Given the description of an element on the screen output the (x, y) to click on. 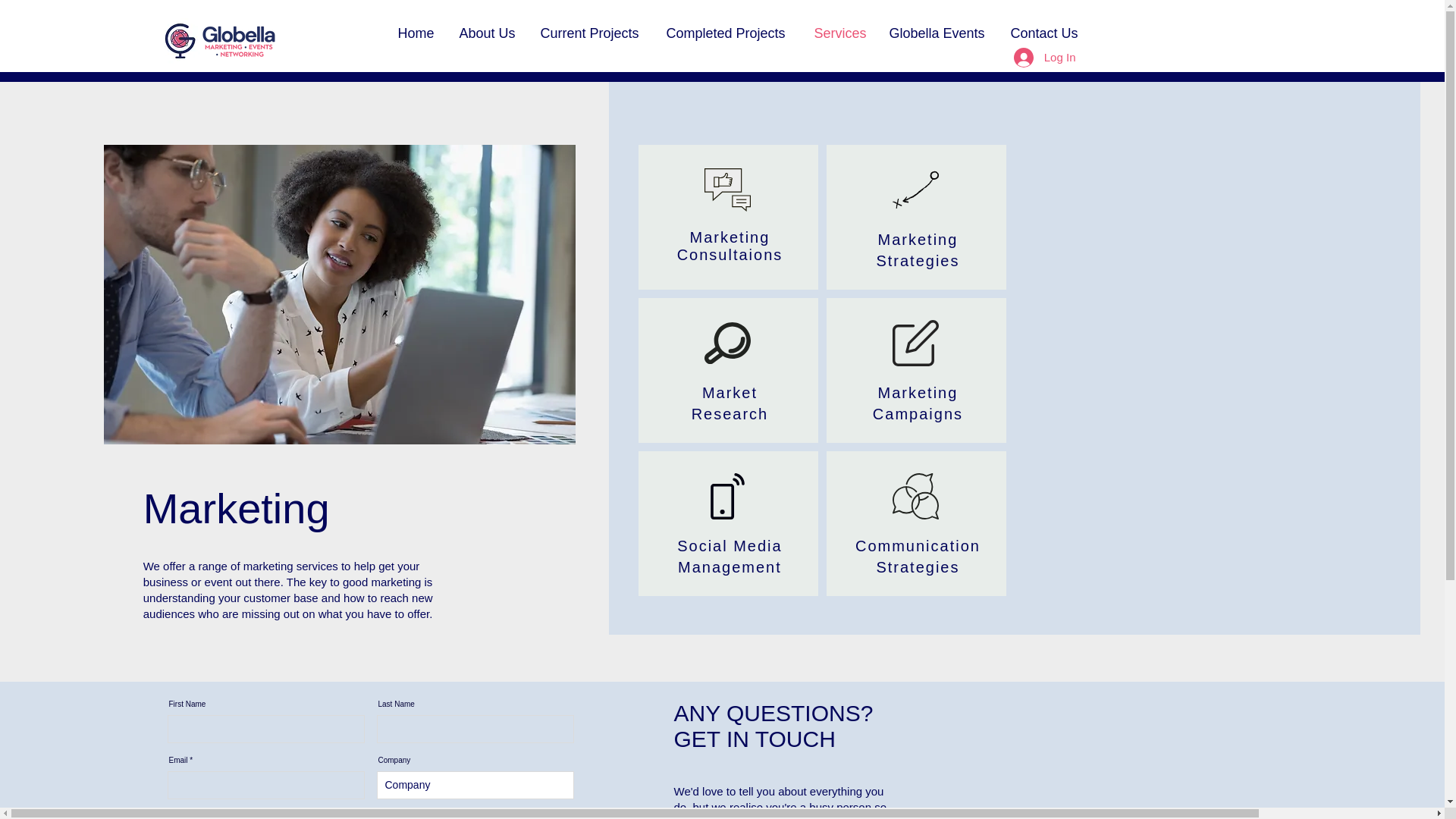
Globella Events (937, 33)
Contact Us (1044, 33)
Services (839, 33)
Current Projects (592, 33)
About Us (487, 33)
Home (417, 33)
Log In (1044, 56)
Completed Projects (729, 33)
